Given the description of an element on the screen output the (x, y) to click on. 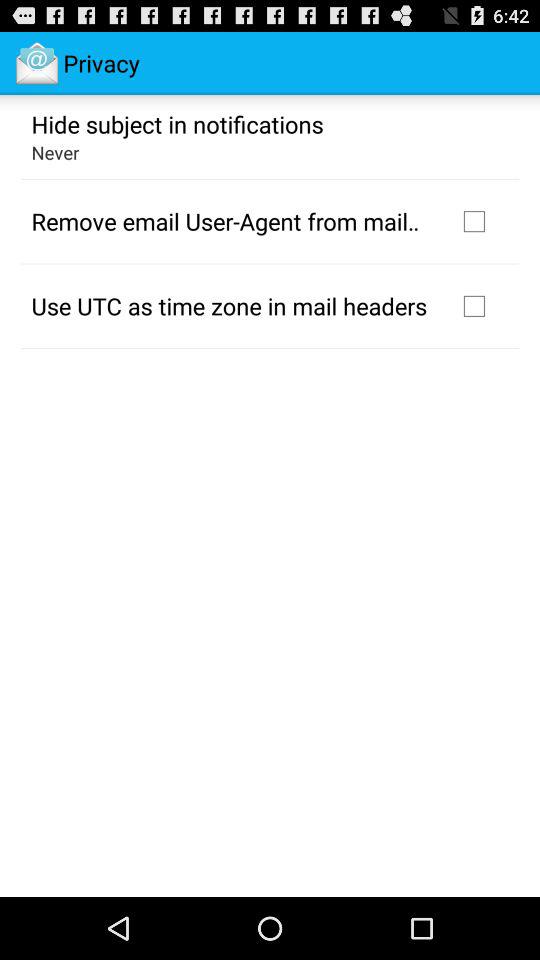
jump to the never (55, 151)
